Given the description of an element on the screen output the (x, y) to click on. 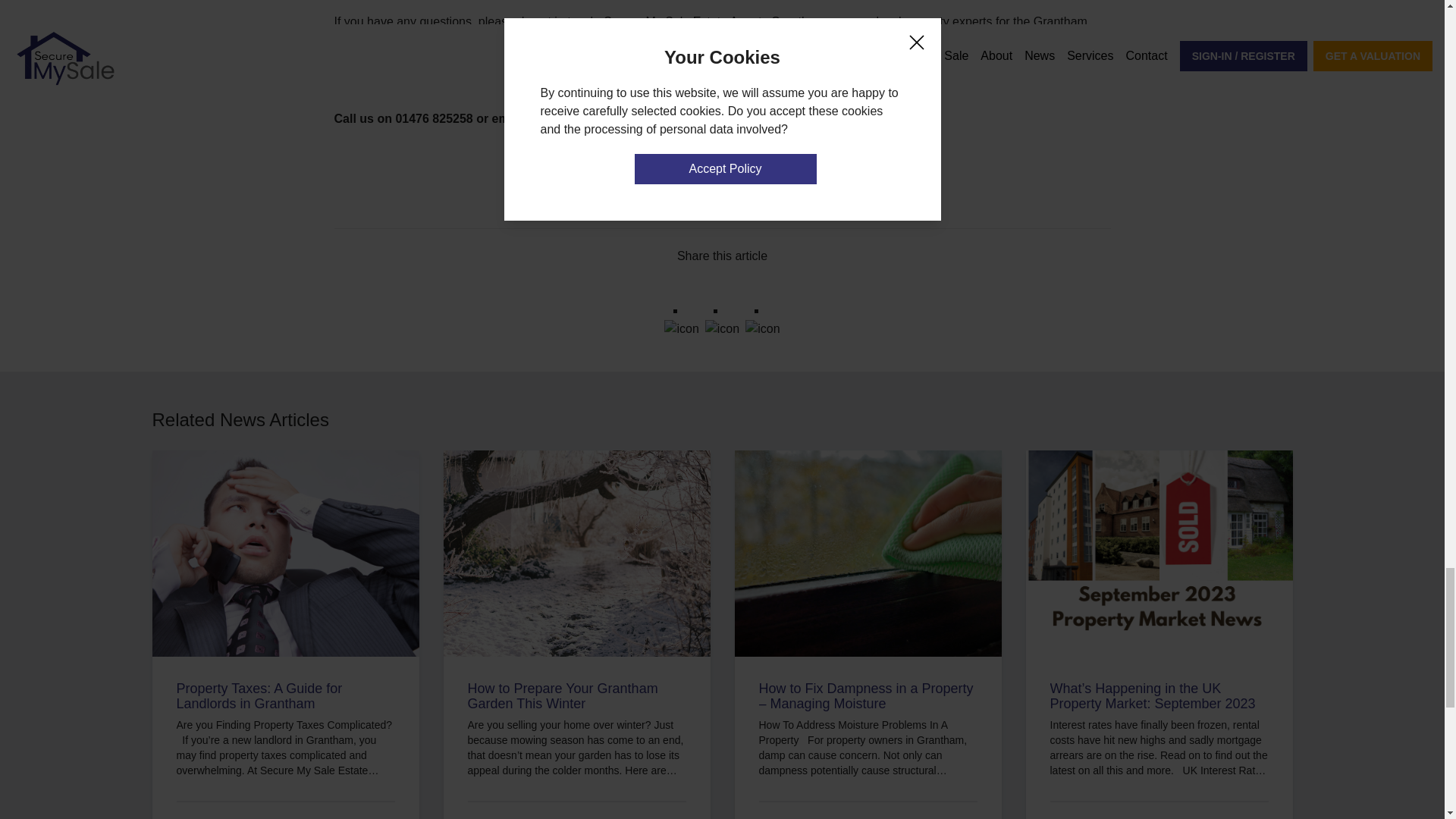
How to Prepare Your Grantham Garden This Winter (576, 695)
Property Taxes: A Guide for Landlords in Grantham (285, 695)
Property Taxes: A Guide for Landlords in Grantham (285, 695)
How to Prepare Your Grantham Garden This Winter (576, 695)
